Given the description of an element on the screen output the (x, y) to click on. 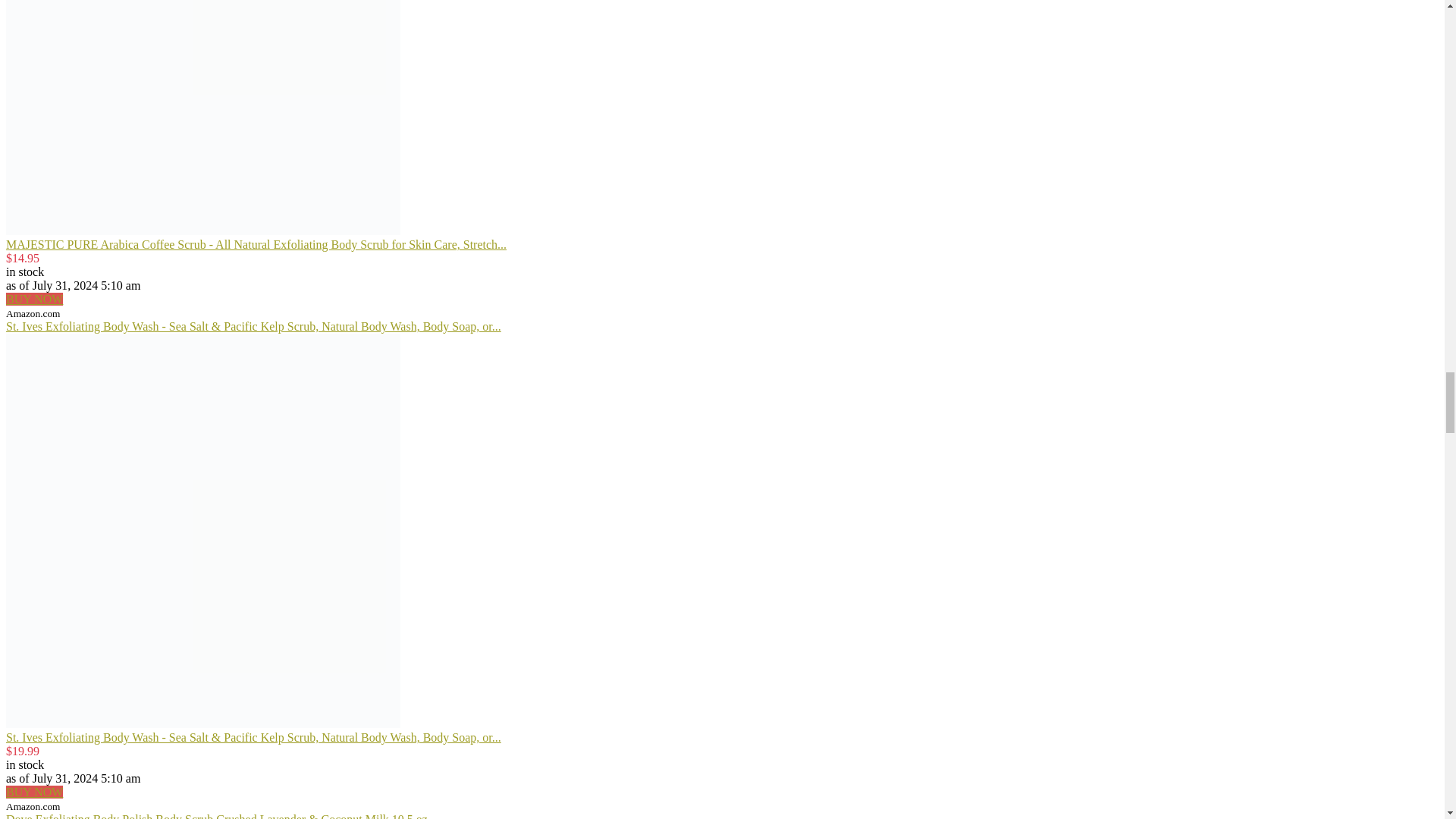
BUY NOW (33, 791)
BUY NOW (33, 298)
